Given the description of an element on the screen output the (x, y) to click on. 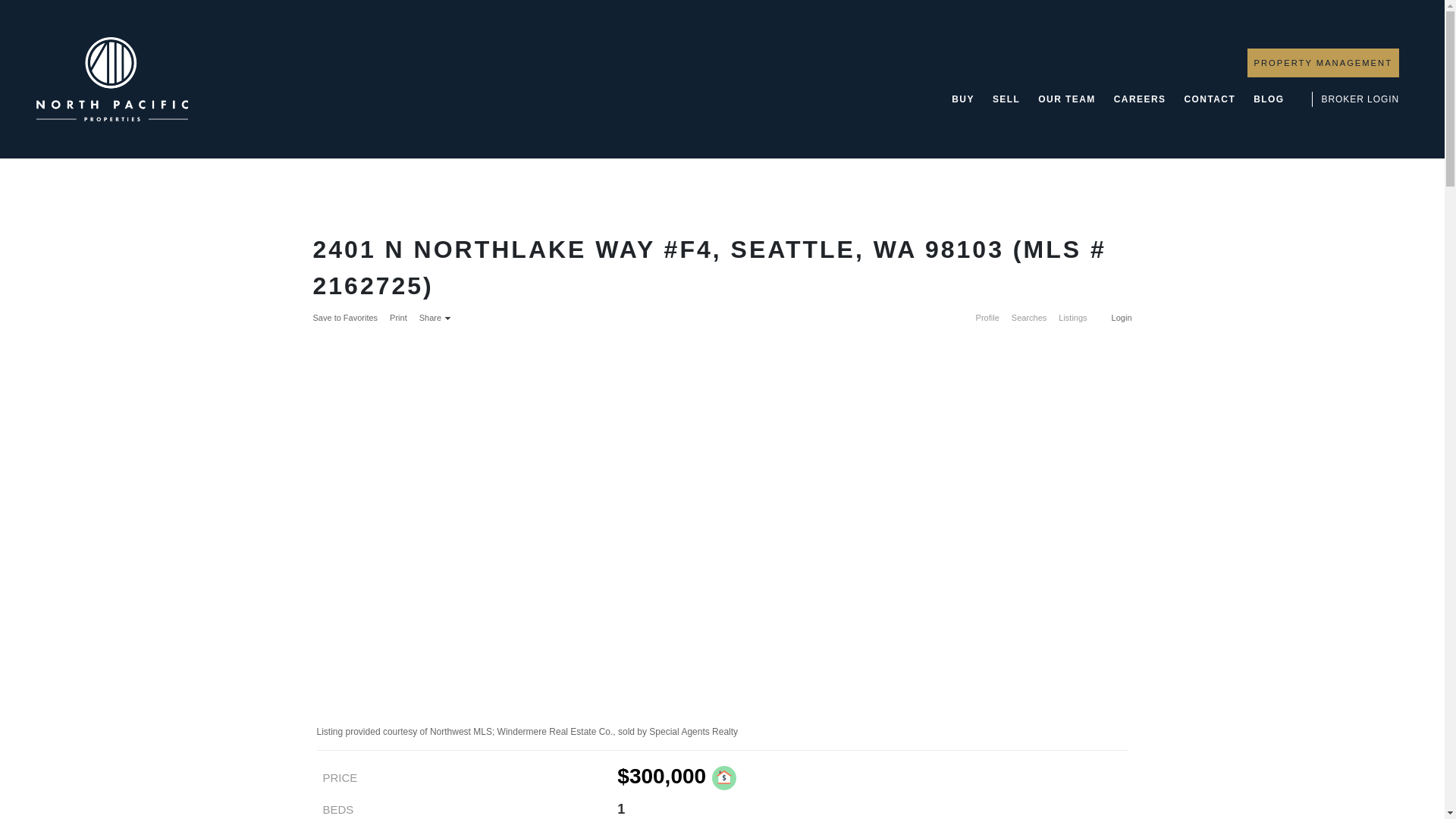
Buy (963, 98)
Blog (1268, 98)
Print (398, 317)
Our Team (1066, 98)
Save to Favorites (345, 317)
Broker Login (1360, 99)
BROKER LOGIN (1360, 99)
SELL (1006, 98)
BLOG (1268, 98)
Share (434, 317)
CAREERS (1139, 98)
Login (1118, 317)
CONTACT (1208, 98)
BUY (963, 98)
OUR TEAM (1066, 98)
